Given the description of an element on the screen output the (x, y) to click on. 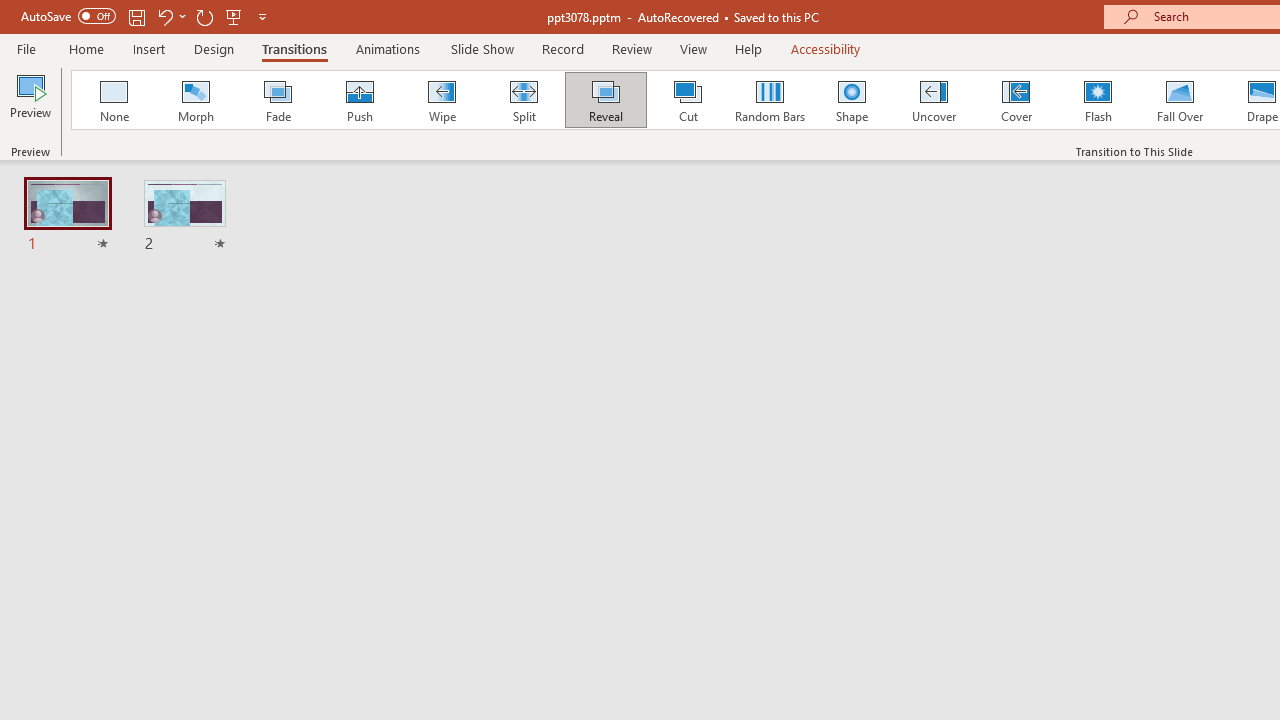
Uncover (934, 100)
Shape (852, 100)
Flash (1098, 100)
Morph (195, 100)
